Given the description of an element on the screen output the (x, y) to click on. 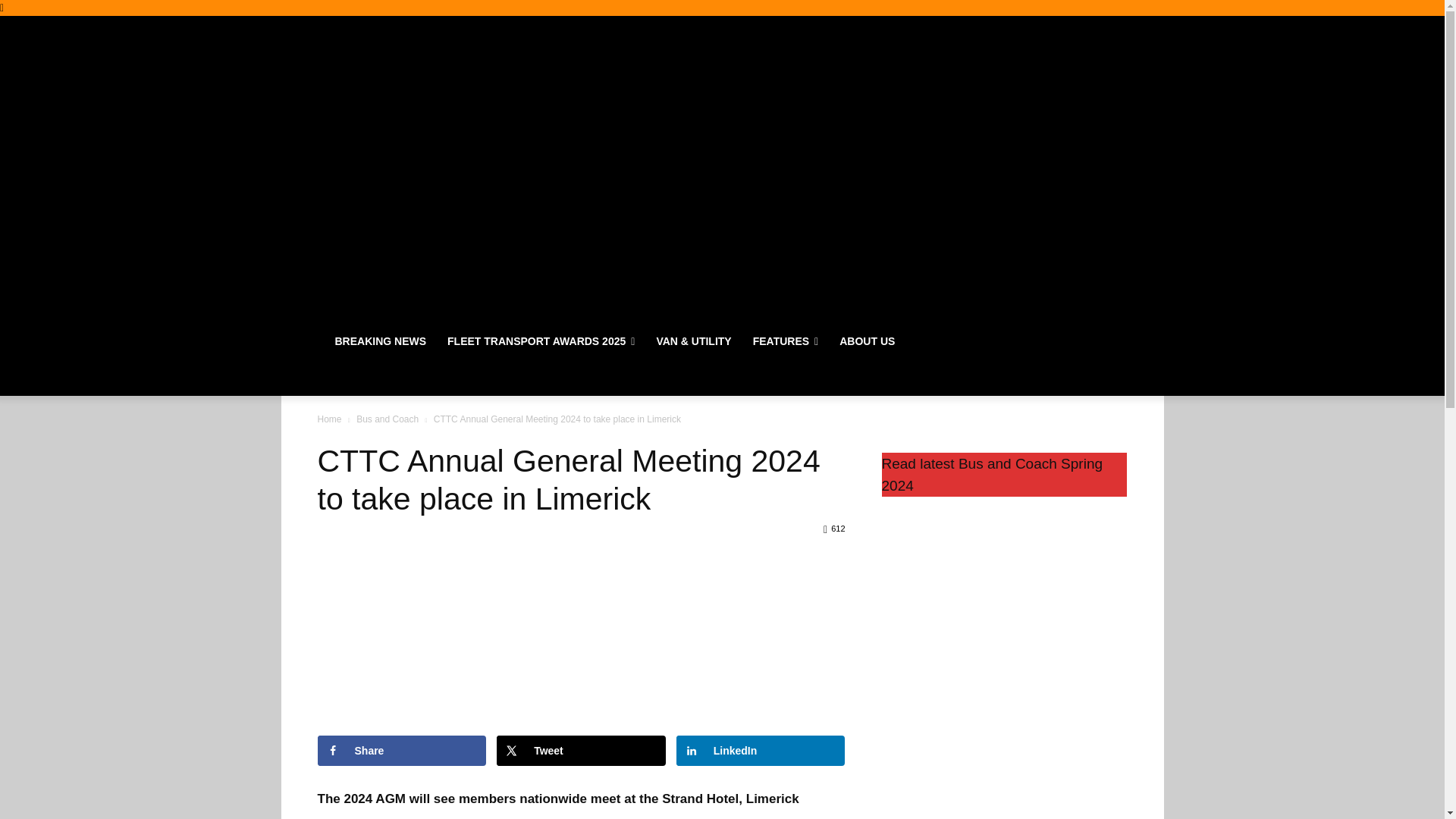
FLEET TRANSPORT AWARDS 2025 (540, 340)
Share on LinkedIn (761, 750)
View all posts in Bus and Coach (387, 419)
Share on X (580, 750)
BREAKING NEWS (381, 340)
Share on Facebook (401, 750)
